Given the description of an element on the screen output the (x, y) to click on. 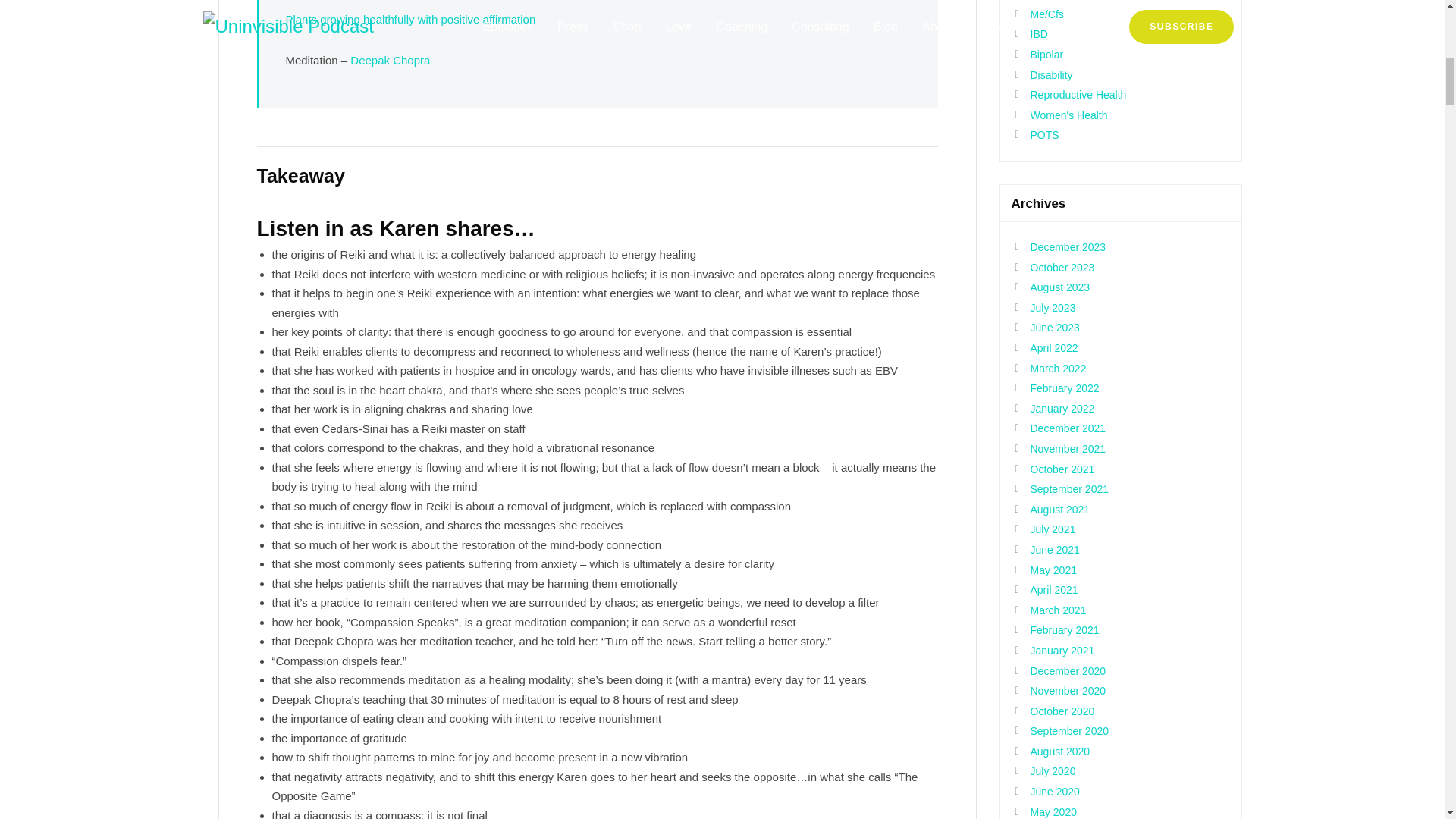
Plants growing healthfully with positive affirmation (410, 19)
Deepak Chopra (389, 60)
